Given the description of an element on the screen output the (x, y) to click on. 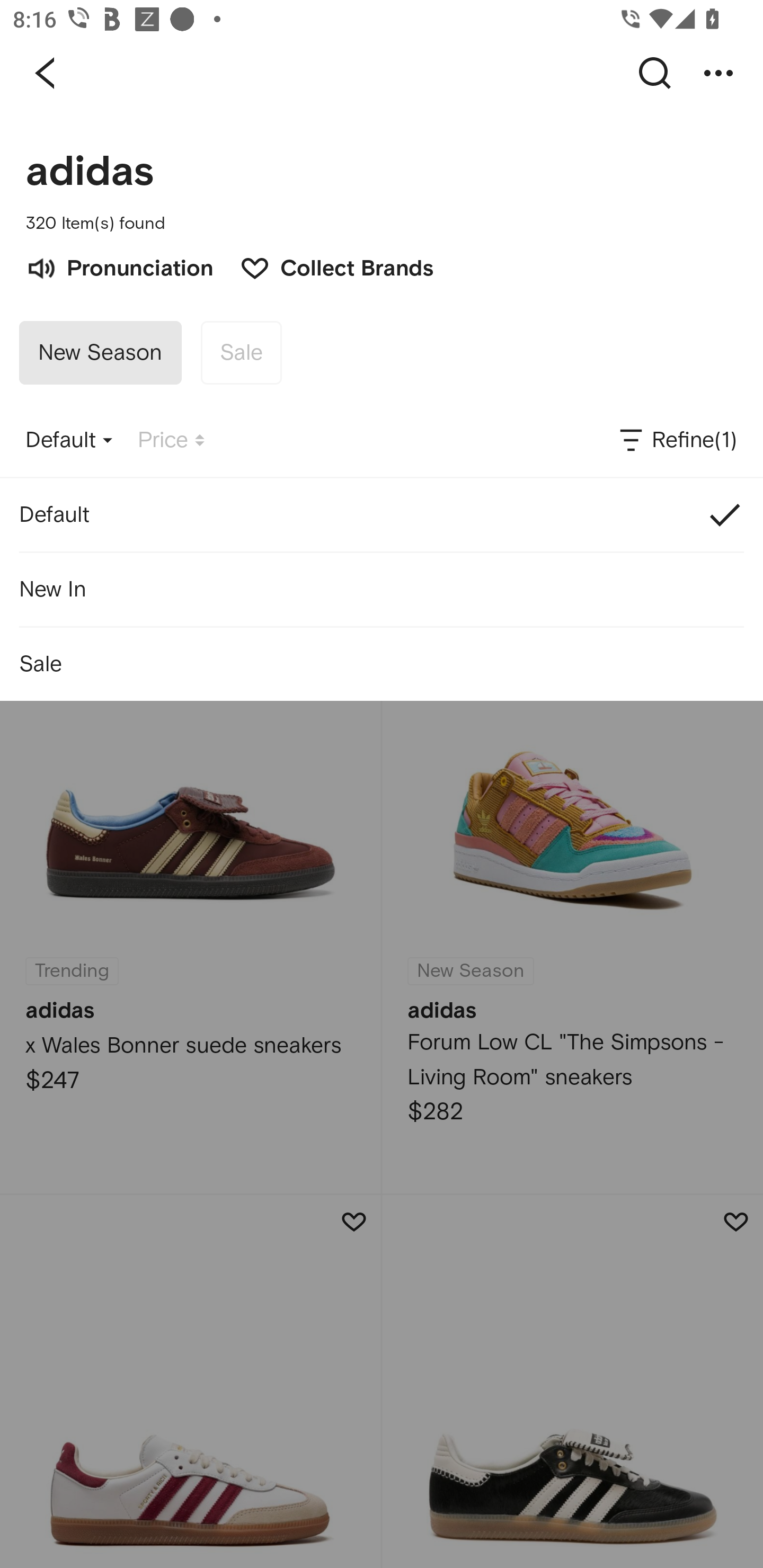
Pronunciation (119, 266)
Collect Brands (327, 266)
New Season (100, 352)
Sale (240, 352)
Default (68, 440)
Price (171, 440)
Refine(1) (677, 440)
Default (381, 514)
New In (381, 588)
Sale (381, 663)
